Given the description of an element on the screen output the (x, y) to click on. 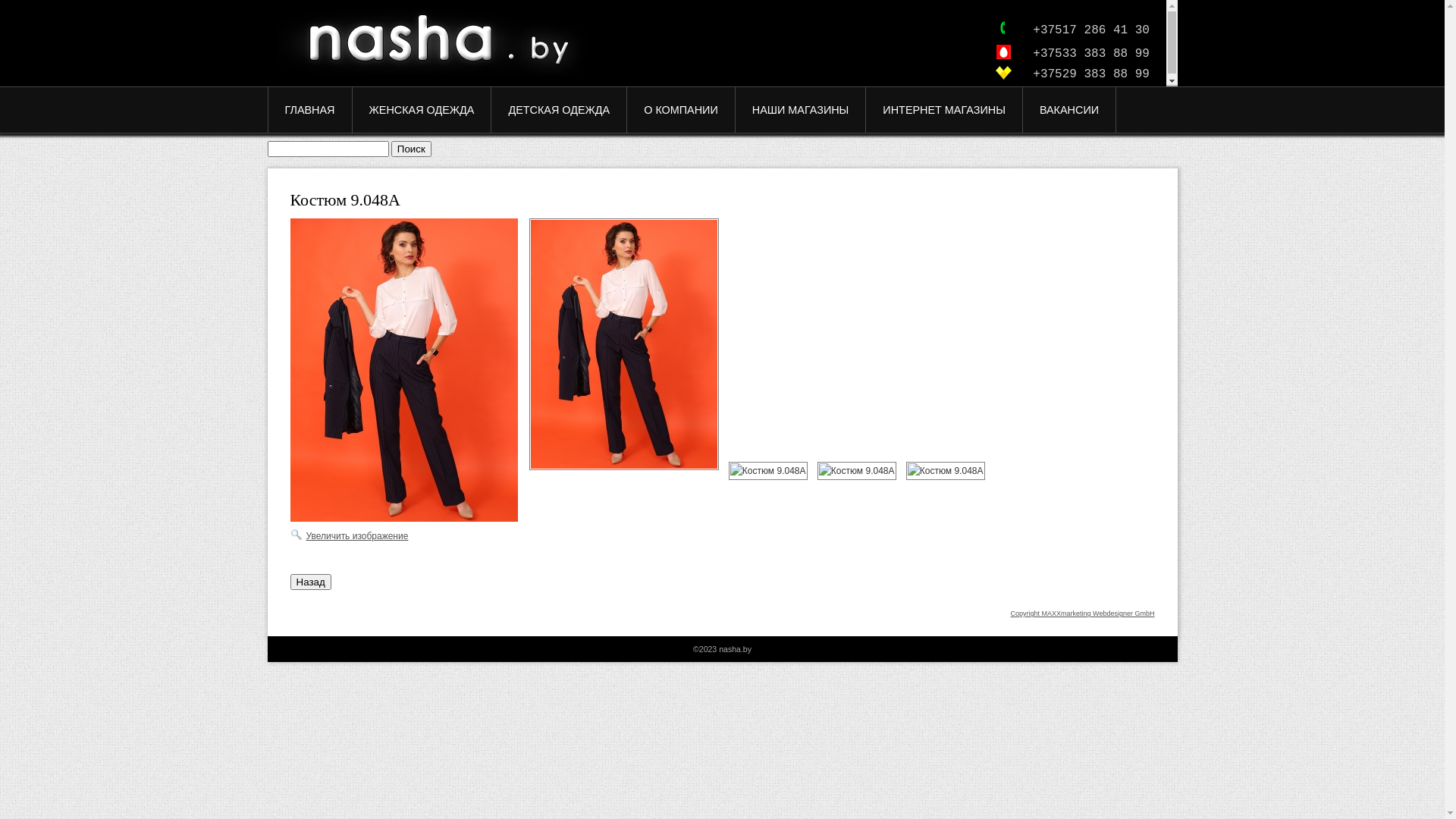
Copyright MAXXmarketing Webdesigner GmbH Element type: text (1082, 613)
